Given the description of an element on the screen output the (x, y) to click on. 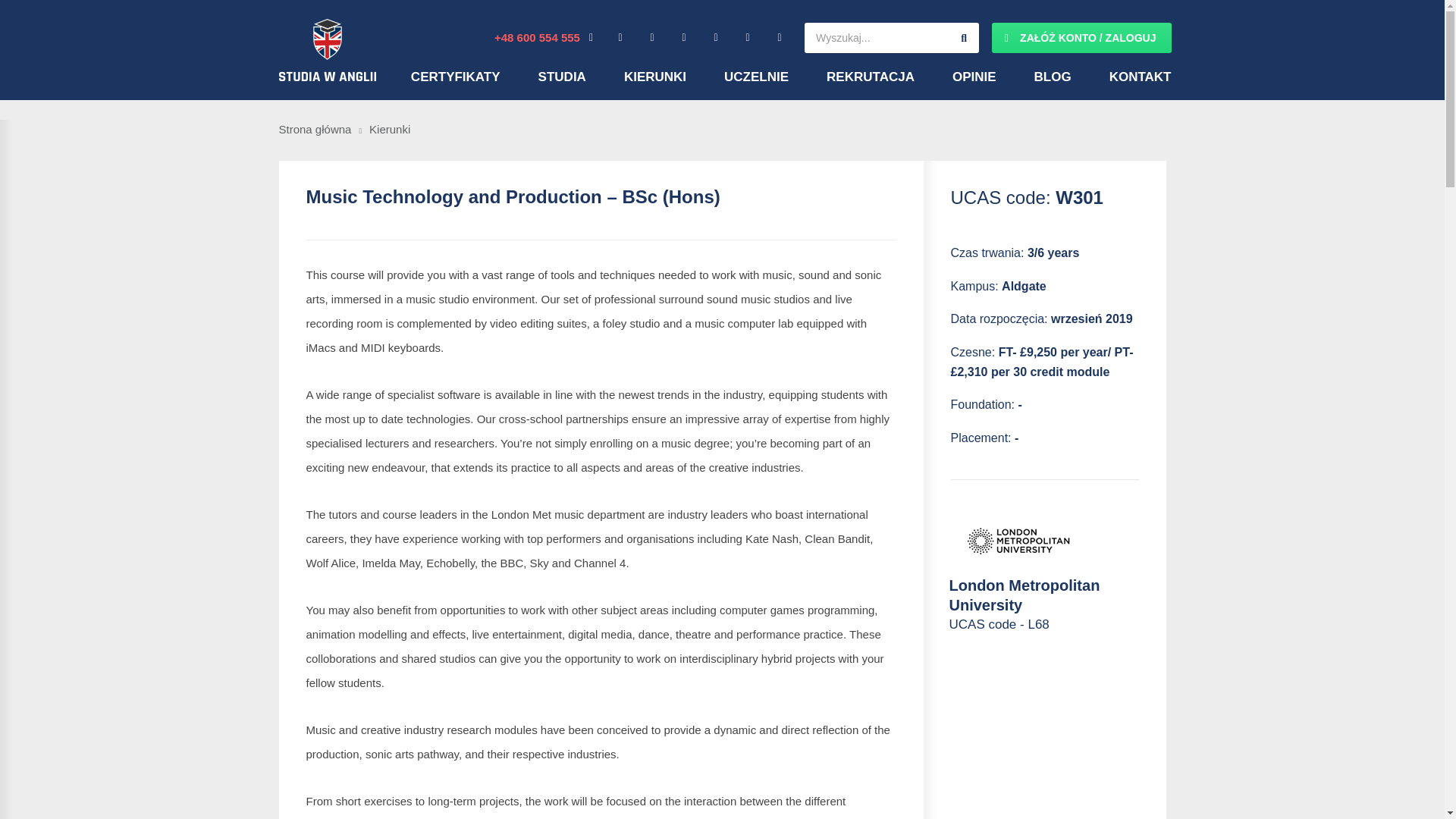
BLOG (1052, 76)
STUDIA (562, 76)
REKRUTACJA (870, 76)
OPINIE (973, 76)
KONTAKT (1140, 76)
KIERUNKI (654, 76)
Kierunki (389, 128)
UCZELNIE (756, 76)
CERTYFIKATY (455, 76)
